Given the description of an element on the screen output the (x, y) to click on. 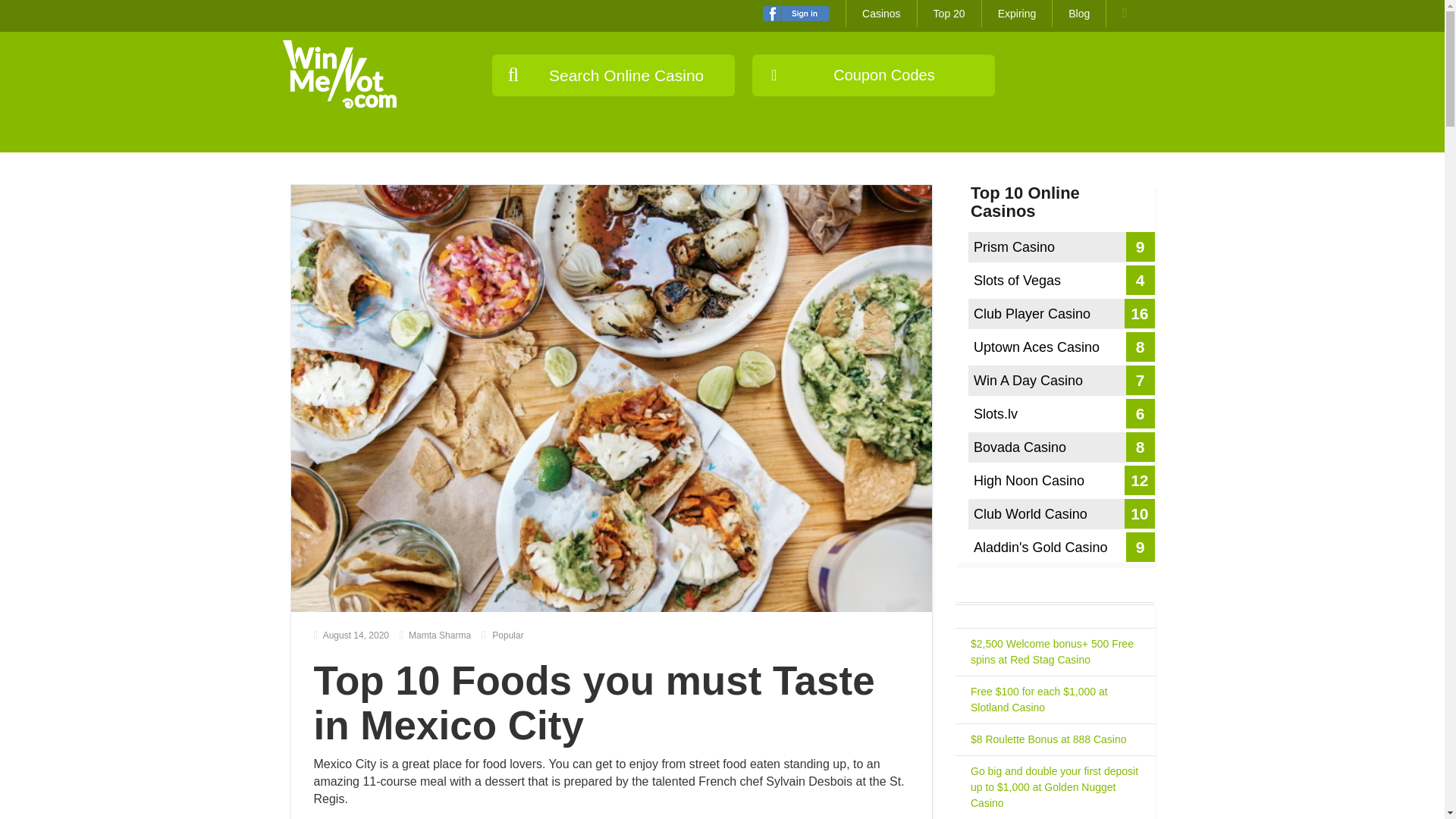
Expiring (1016, 13)
Slots of Vegas (1061, 280)
Aladdin's Gold Casino (1061, 547)
Casinos (881, 13)
Blog (1078, 13)
Slots.lv (1061, 413)
Club World Casino (1061, 513)
Bovada Casino (1061, 447)
August 14, 2020 (352, 634)
Top 20 (949, 13)
Expiring (1016, 13)
Prism Casino (1061, 246)
Club Player Casino (1061, 313)
Mamta Sharma (434, 634)
